Given the description of an element on the screen output the (x, y) to click on. 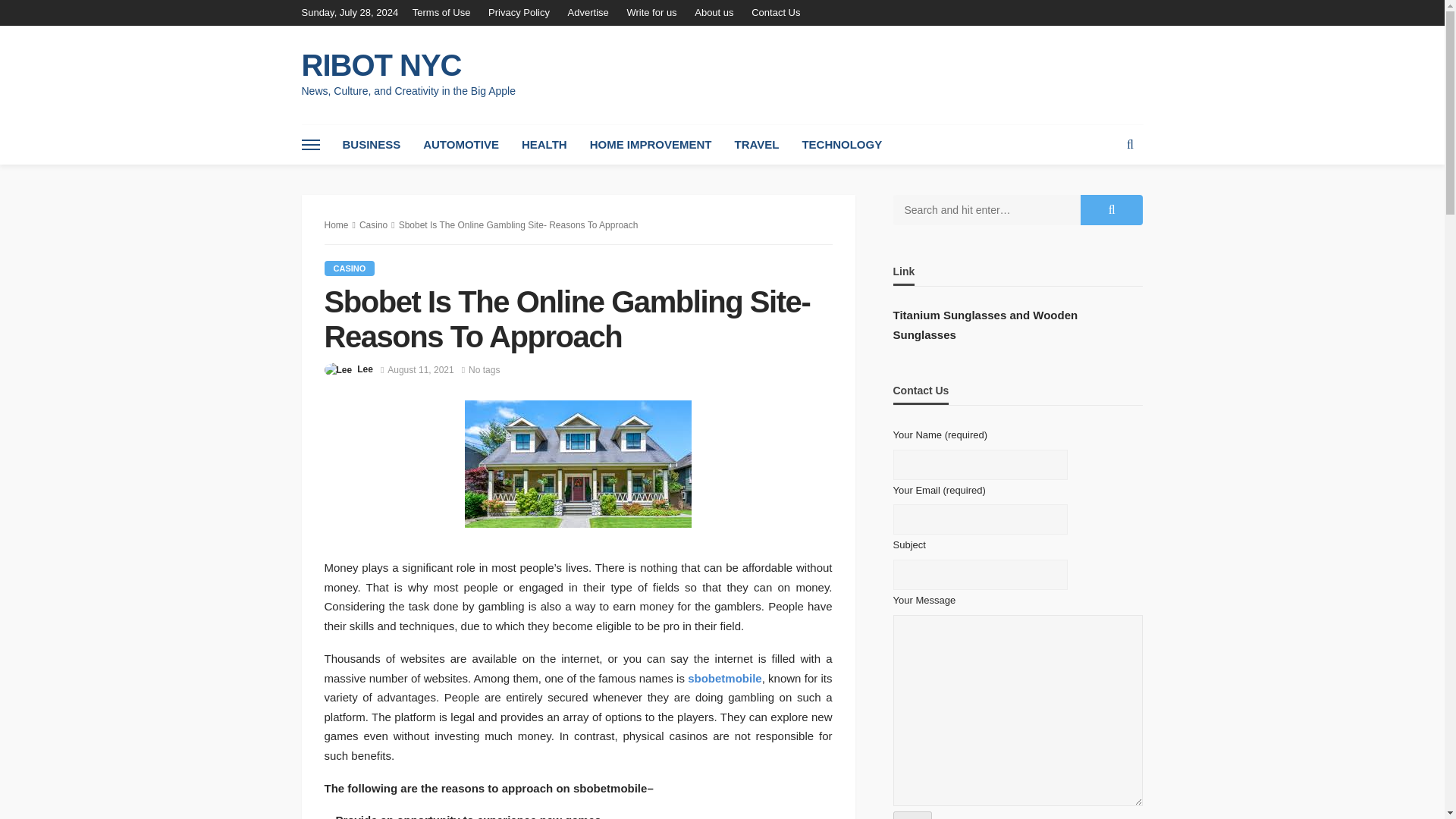
TECHNOLOGY (841, 144)
Privacy Policy (518, 12)
Home (336, 225)
Send (912, 815)
About us (714, 12)
AUTOMOTIVE (461, 144)
Advertise (587, 12)
off canvas button (310, 144)
HOME IMPROVEMENT (650, 144)
CASINO (349, 268)
RIBOT NYC (408, 64)
BUSINESS (371, 144)
Lee (364, 368)
TRAVEL (756, 144)
Write for us (651, 12)
